Given the description of an element on the screen output the (x, y) to click on. 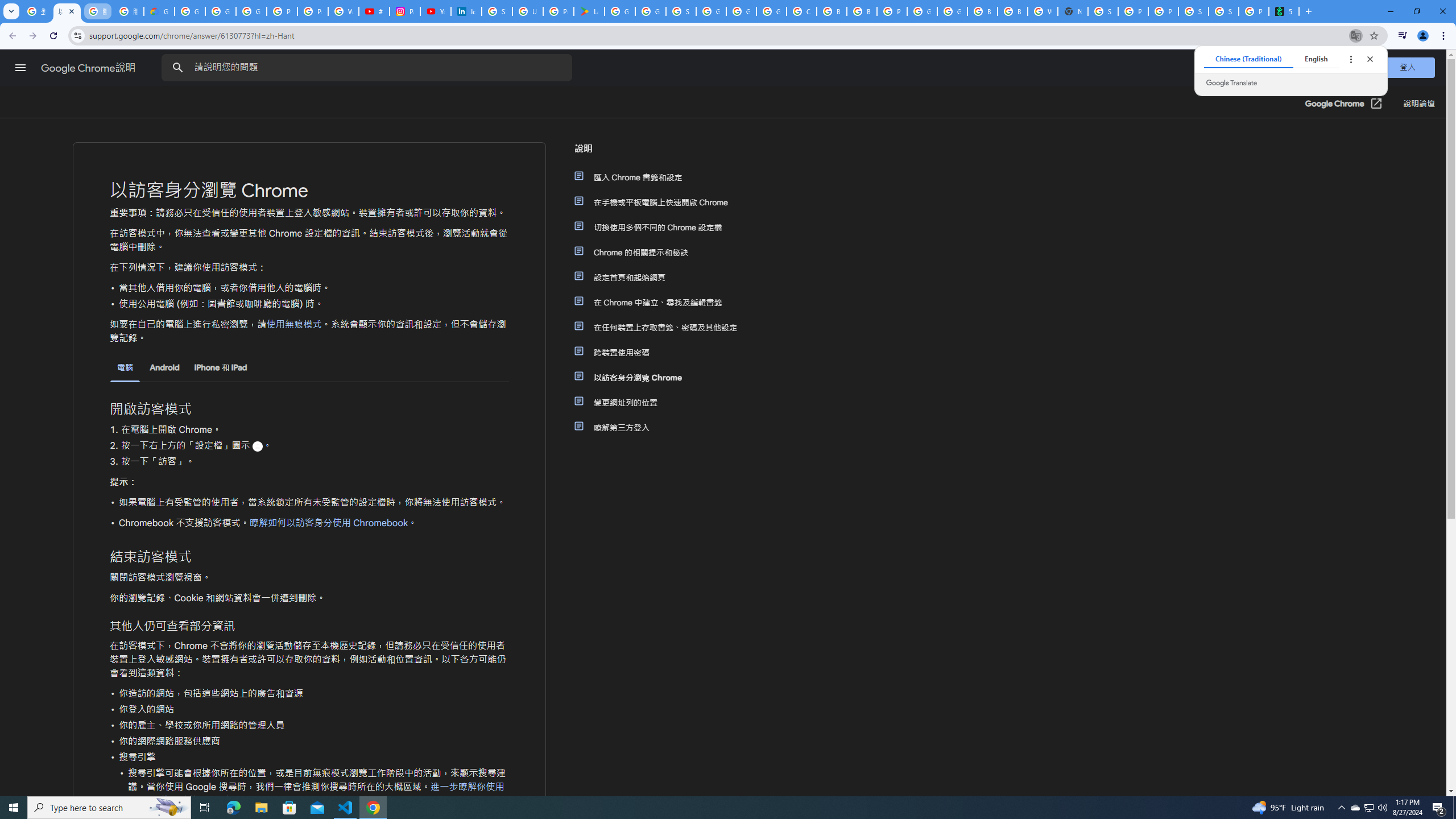
Google Cloud Platform (740, 11)
Browse Chrome as a guest - Computer - Google Chrome Help (982, 11)
New Tab (1072, 11)
Last Shelter: Survival - Apps on Google Play (589, 11)
Google Workspace - Specific Terms (650, 11)
